Given the description of an element on the screen output the (x, y) to click on. 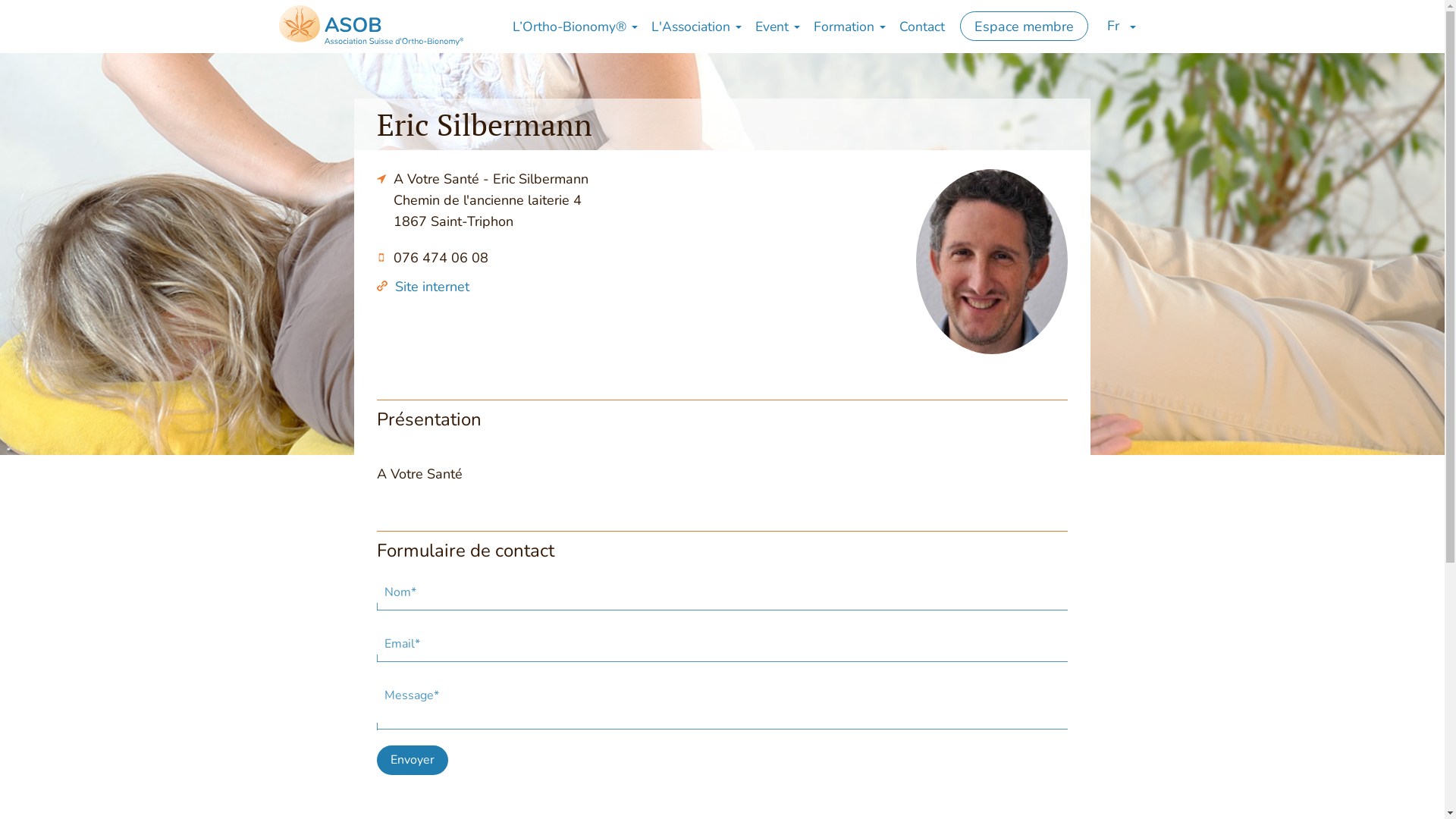
Page d'accueil Element type: hover (371, 25)
Espace membre Element type: text (1024, 25)
Site internet Element type: text (432, 286)
Envoyer Element type: text (412, 760)
Contact Element type: text (921, 26)
